Given the description of an element on the screen output the (x, y) to click on. 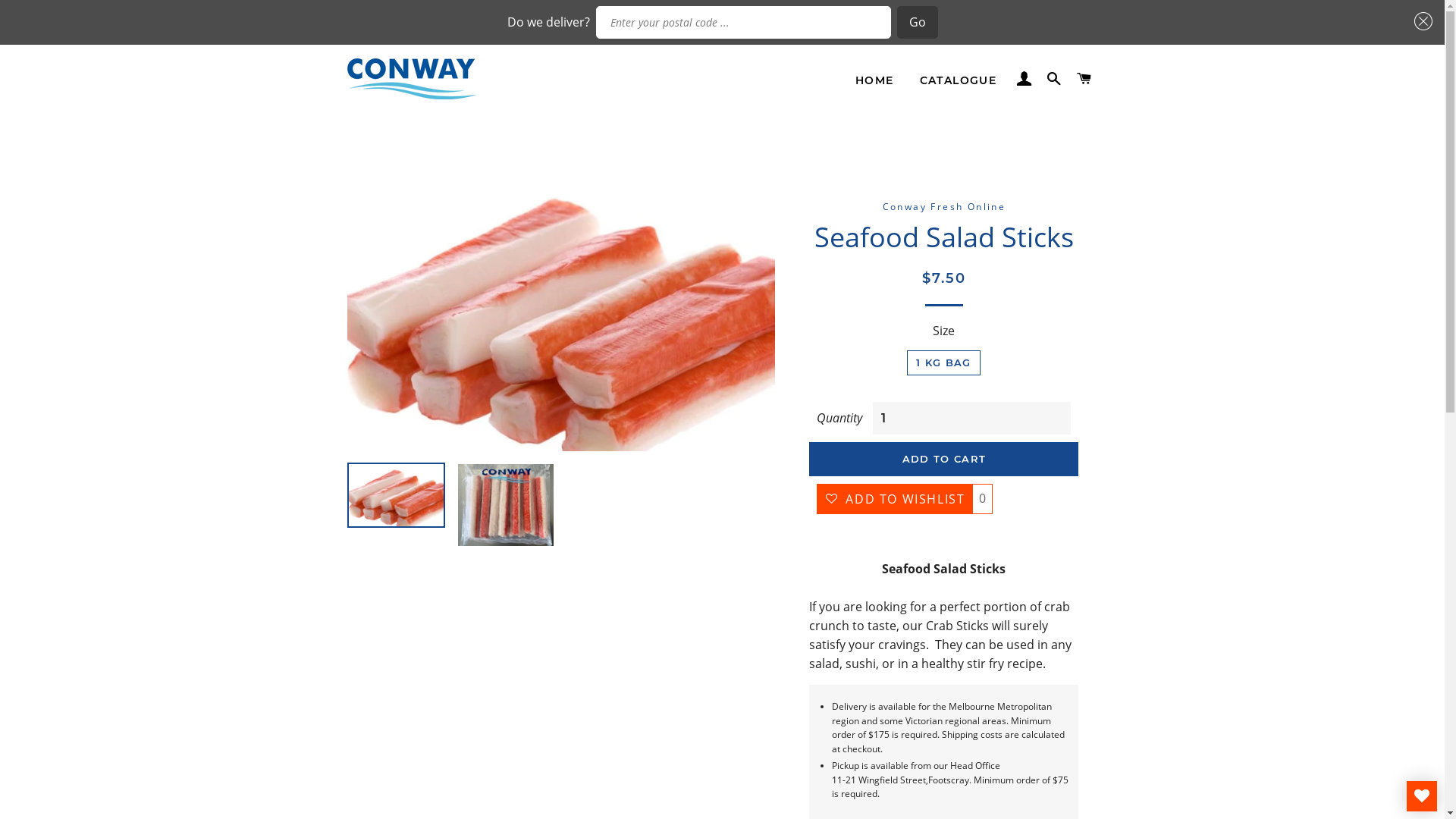
LOG IN Element type: text (1023, 78)
ADD TO WISHLIST Element type: text (894, 498)
SEARCH Element type: text (1054, 78)
CART Element type: text (1083, 78)
MY WISHLIST Element type: text (1421, 796)
HOME Element type: text (874, 80)
Go Element type: text (916, 22)
CATALOGUE Element type: text (958, 80)
ADD TO CART Element type: text (943, 458)
